Given the description of an element on the screen output the (x, y) to click on. 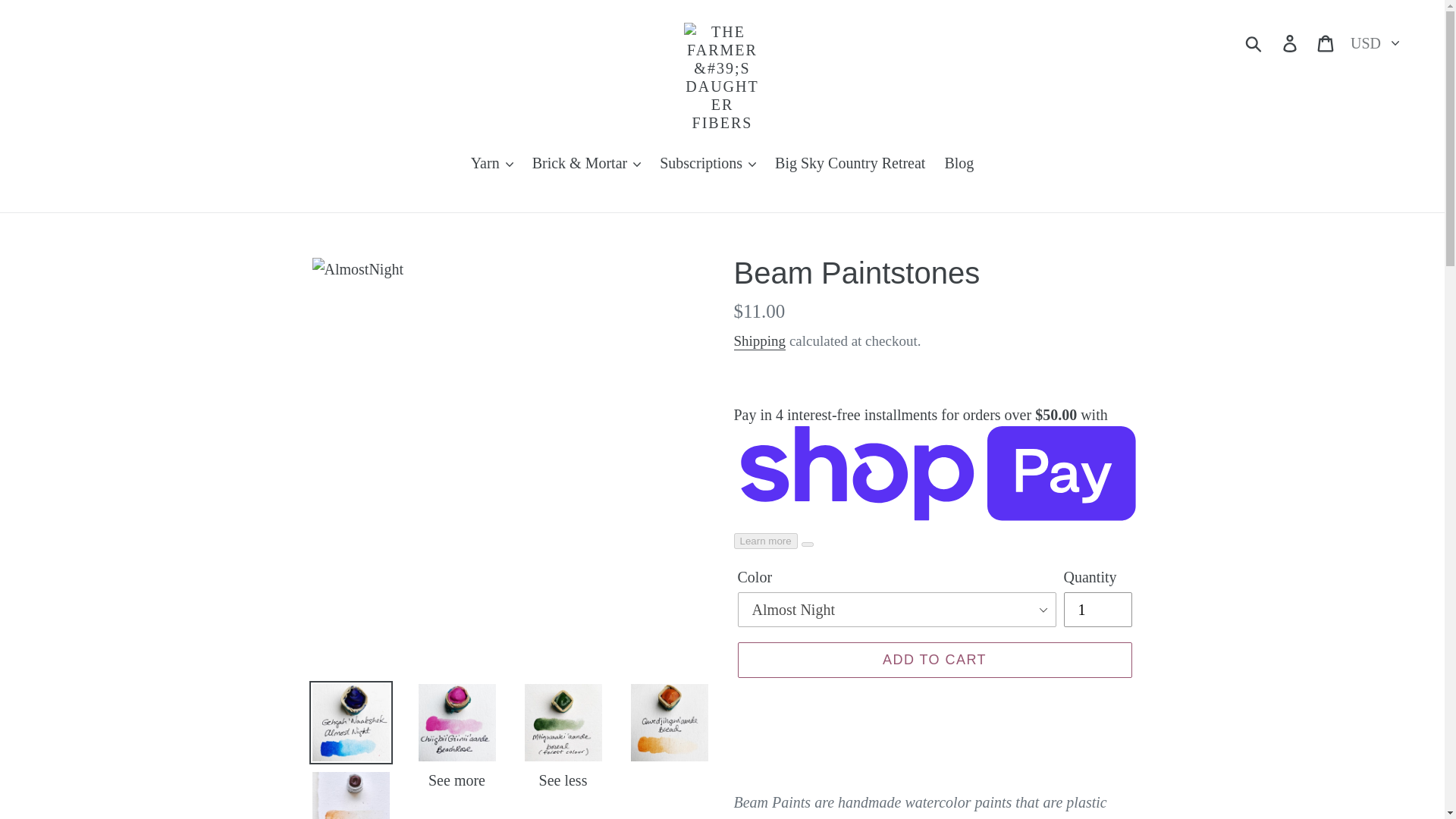
Submit (1254, 41)
1 (1096, 609)
Log in (1290, 41)
Cart (1325, 41)
